Given the description of an element on the screen output the (x, y) to click on. 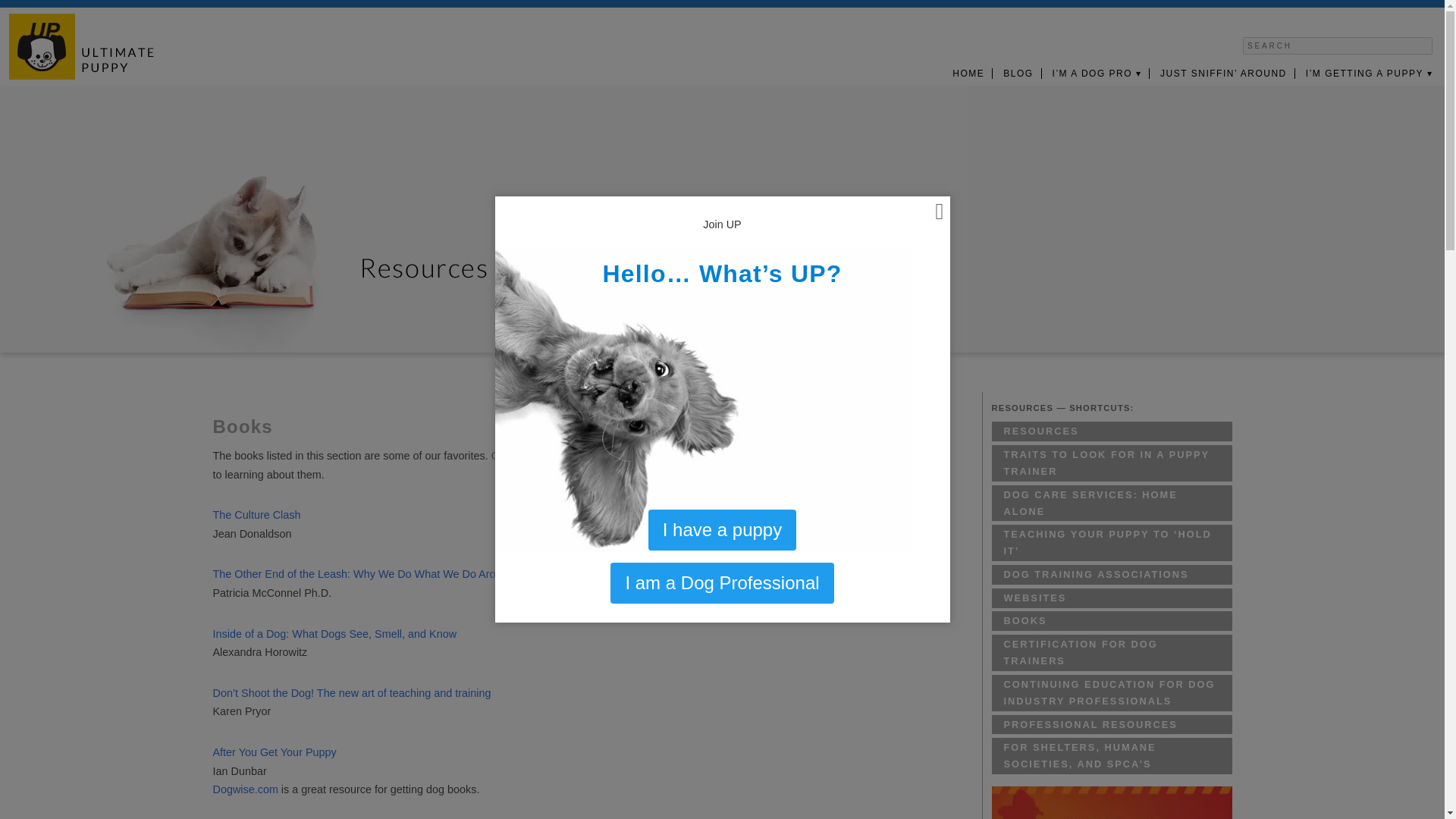
DOG TRAINING ASSOCIATIONS (1111, 574)
After You Get Your Puppy (274, 752)
Home (968, 72)
Ultimate Puppy (81, 46)
Sign up for puppy bytes daily training tips (1111, 802)
Don't Shoot the Dog (351, 693)
TRAITS TO LOOK FOR IN A PUPPY TRAINER (1111, 463)
WEBSITES (1111, 598)
The Culture Clash (255, 514)
HOME (968, 72)
BOOKS (1111, 620)
RESOURCES (1111, 431)
CERTIFICATION FOR DOG TRAINERS (1111, 652)
The Culture Clash (255, 514)
BLOG (1018, 72)
